Given the description of an element on the screen output the (x, y) to click on. 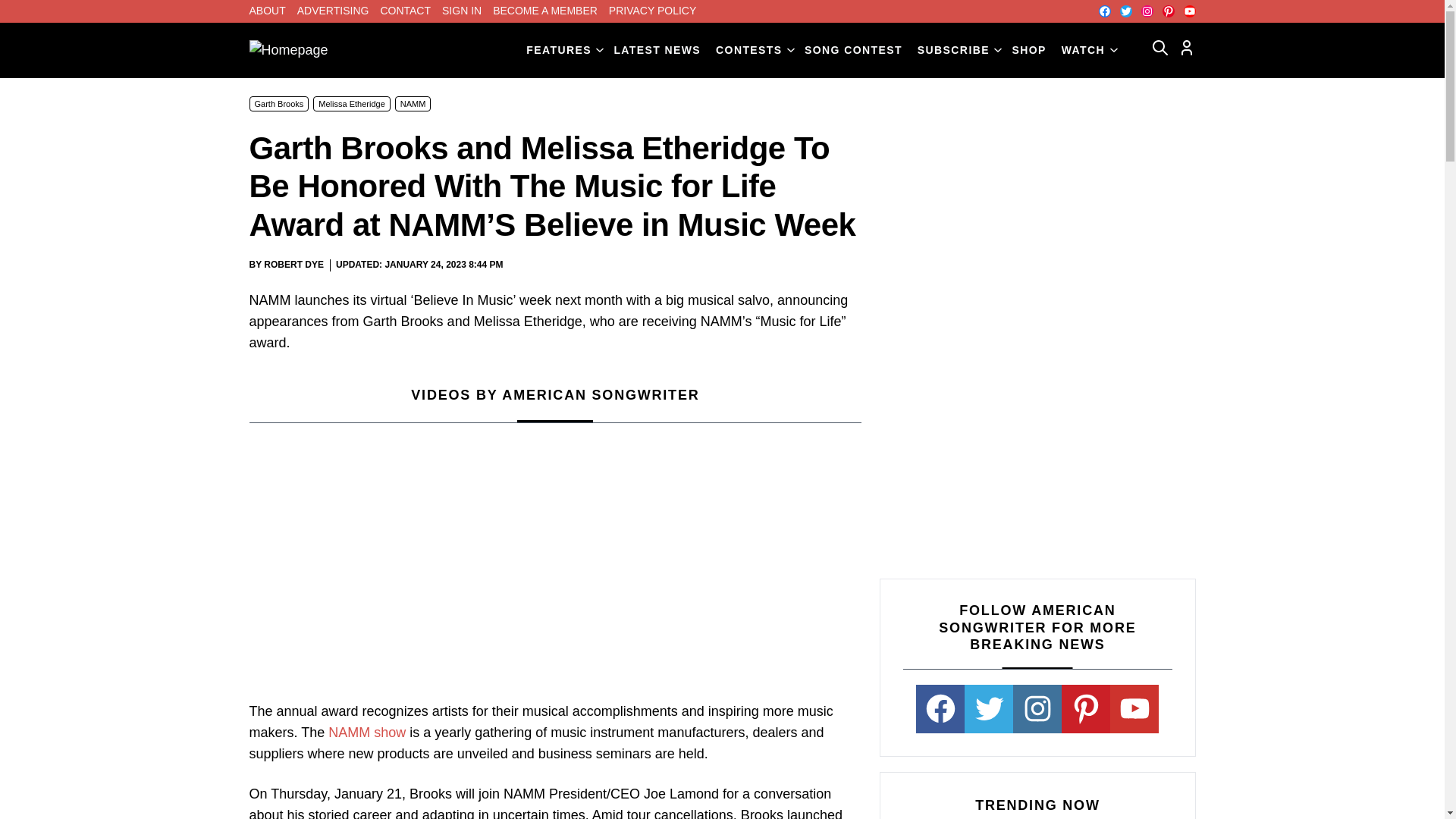
Pinterest (1167, 10)
January 24, 2023 8:44 pm (443, 265)
Posts by Robert Dye (293, 264)
Instagram (1146, 10)
Facebook (1103, 10)
SIGN IN (461, 10)
BECOME A MEMBER (544, 10)
Twitter (1125, 10)
CONTACT (405, 10)
PRIVACY POLICY (651, 10)
